Given the description of an element on the screen output the (x, y) to click on. 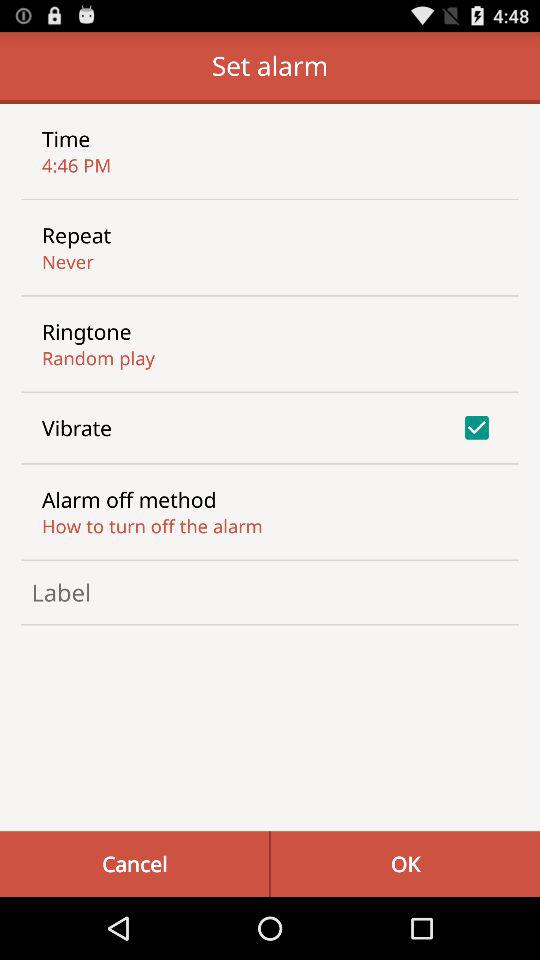
scroll to the ok item (405, 863)
